Given the description of an element on the screen output the (x, y) to click on. 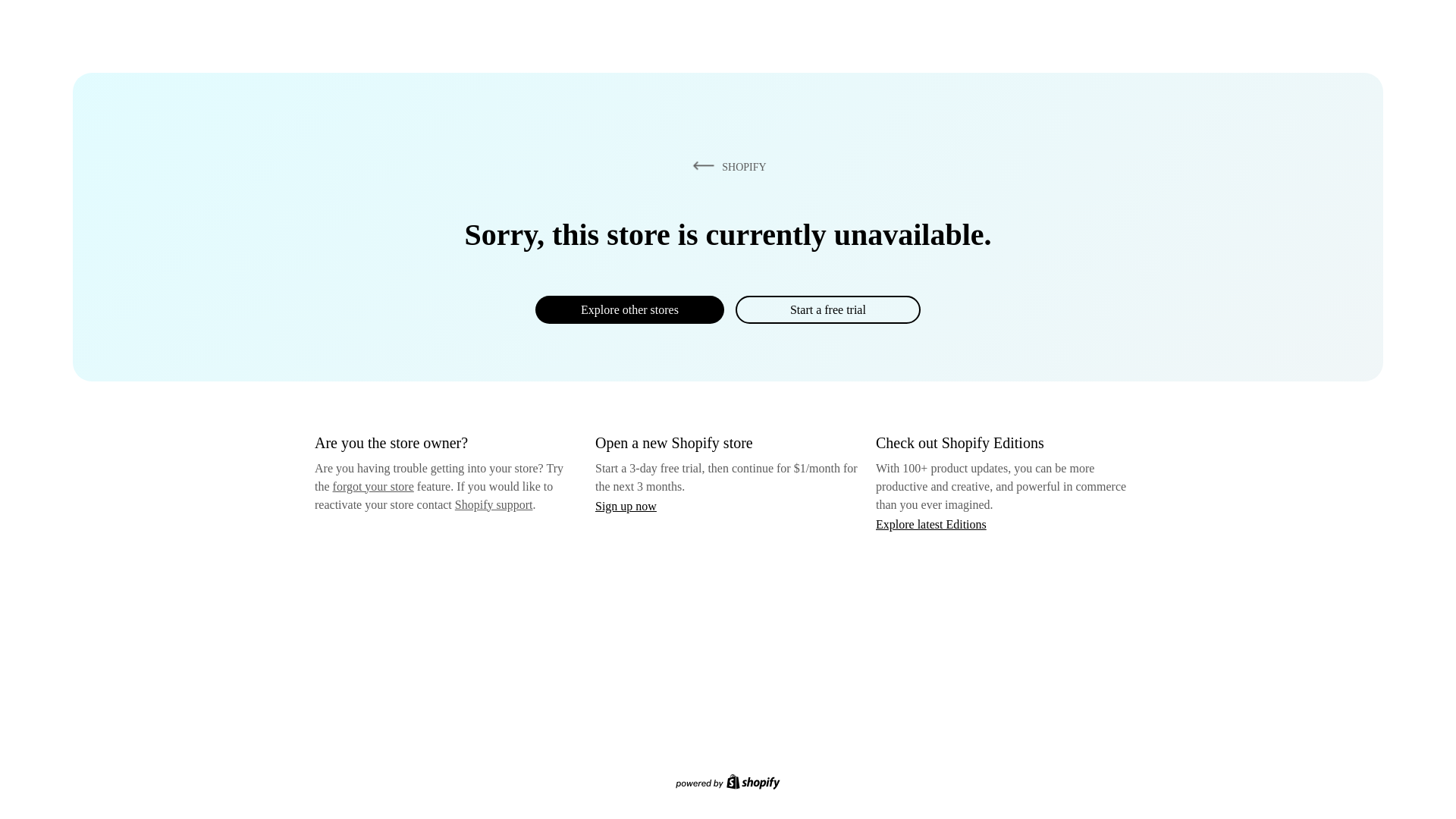
forgot your store (373, 486)
Explore other stores (629, 309)
Start a free trial (827, 309)
Explore latest Editions (931, 523)
SHOPIFY (726, 166)
Sign up now (625, 505)
Shopify support (493, 504)
